Given the description of an element on the screen output the (x, y) to click on. 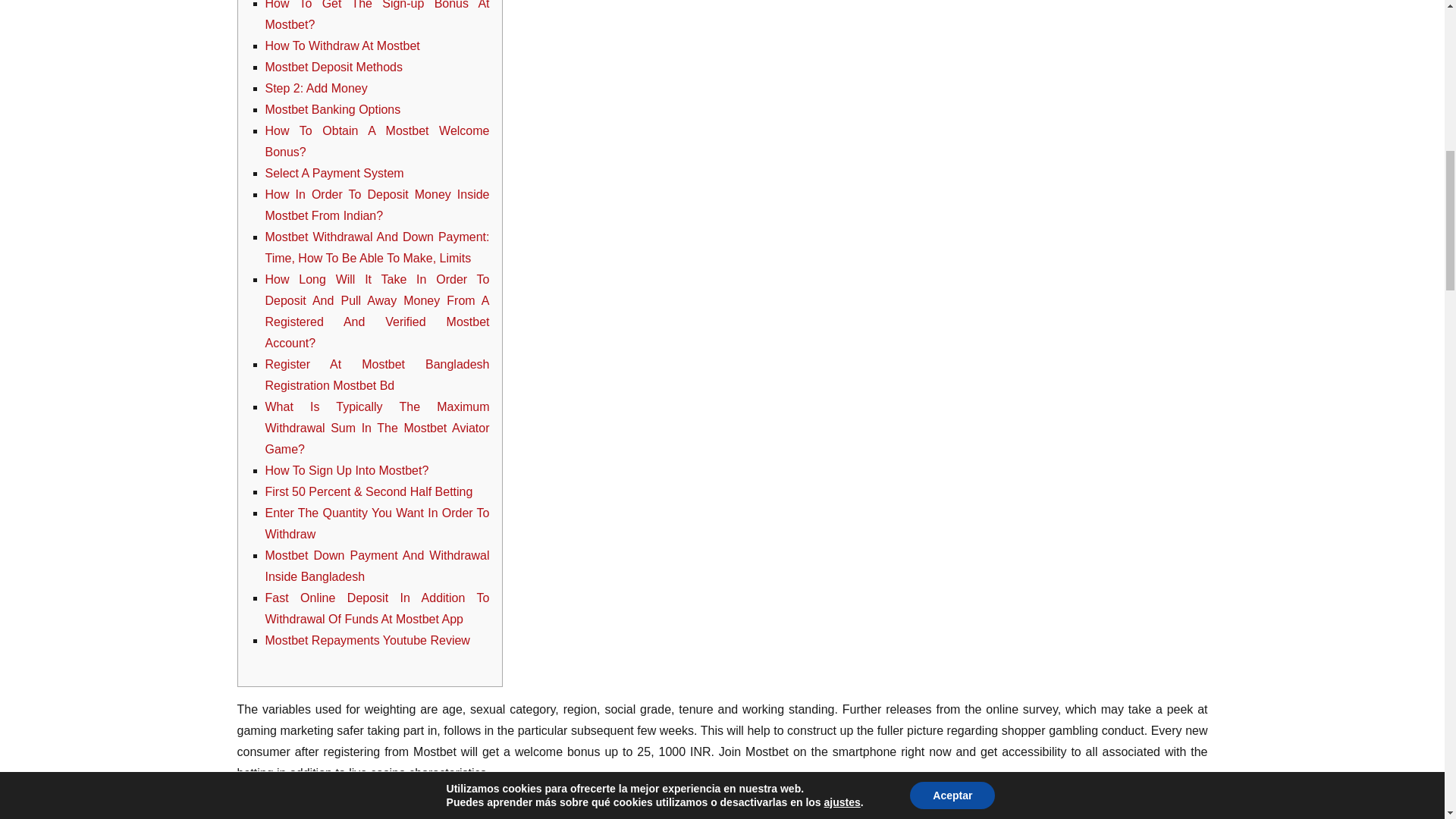
How To Get The Sign-up Bonus At Mostbet? (376, 15)
Select A Payment System (334, 173)
Mostbet Deposit Methods (333, 66)
Step 2: Add Money (316, 88)
How To Sign Up Into Mostbet? (346, 470)
How In Order To Deposit Money Inside Mostbet From Indian? (376, 204)
How To Obtain A Mostbet Welcome Bonus? (376, 141)
Mostbet Banking Options (332, 109)
